Given the description of an element on the screen output the (x, y) to click on. 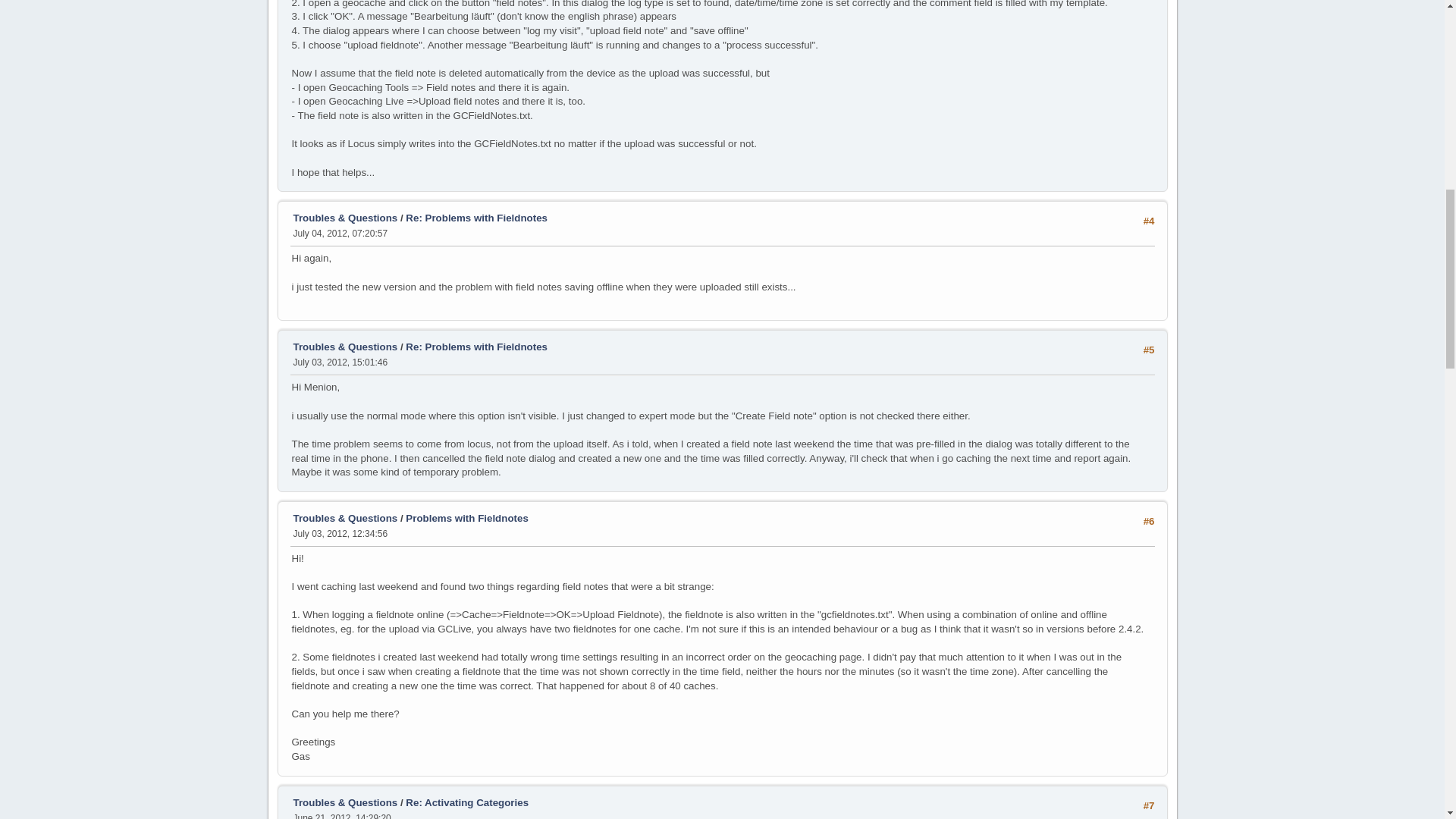
Problems with Fieldnotes (466, 518)
Re: Problems with Fieldnotes (476, 346)
Re: Problems with Fieldnotes (476, 217)
